Given the description of an element on the screen output the (x, y) to click on. 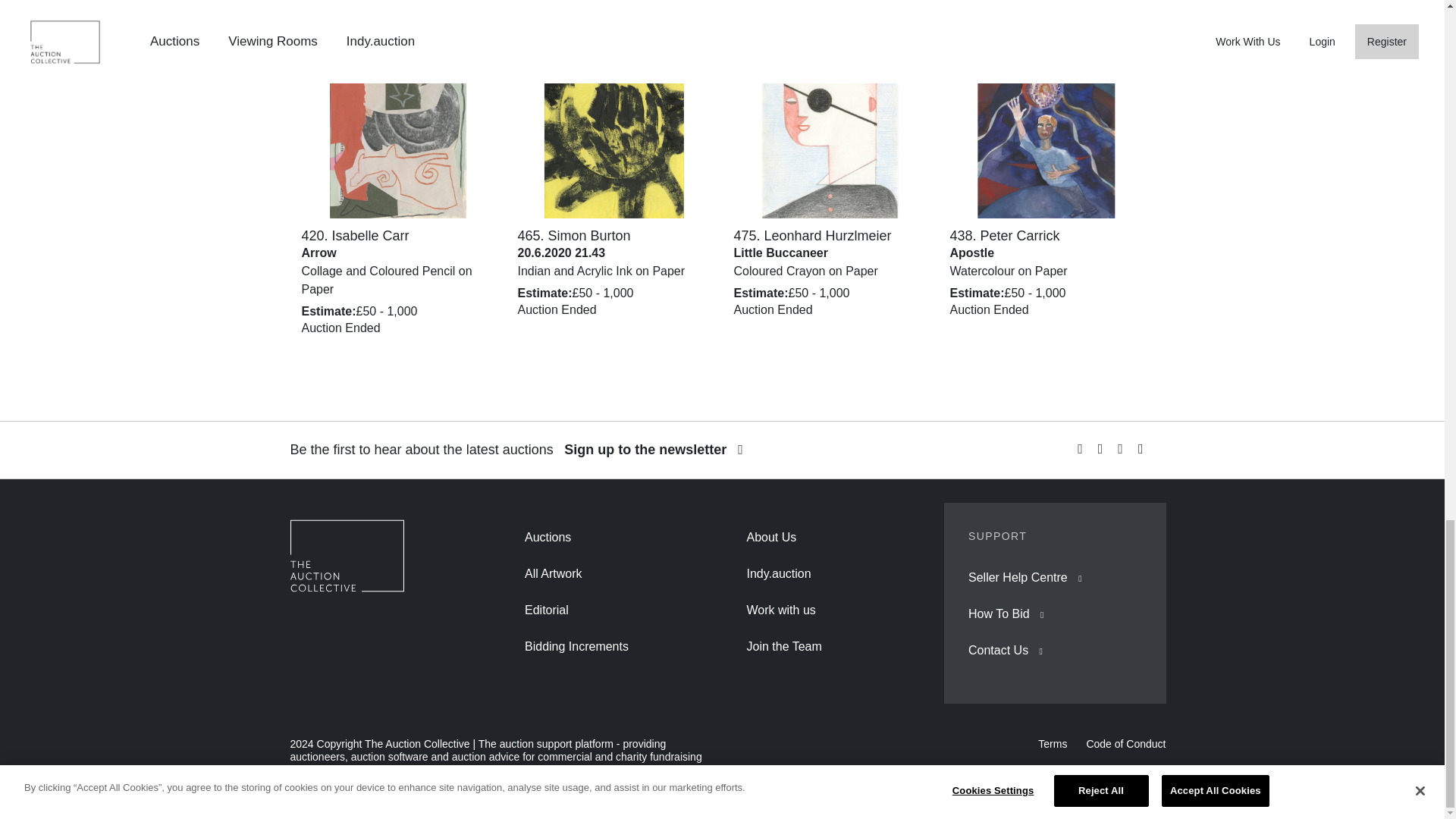
Join the Team (783, 645)
Work with us (780, 609)
Contact Us (997, 649)
Indy.auction (777, 573)
Code of Conduct (1126, 743)
Editorial (546, 609)
Seller Help Centre (1017, 576)
Sign up to the newsletter (653, 449)
How To Bid (998, 613)
All Artwork (553, 573)
Bidding Increments (576, 645)
Auctions (547, 536)
About Us (770, 536)
